Given the description of an element on the screen output the (x, y) to click on. 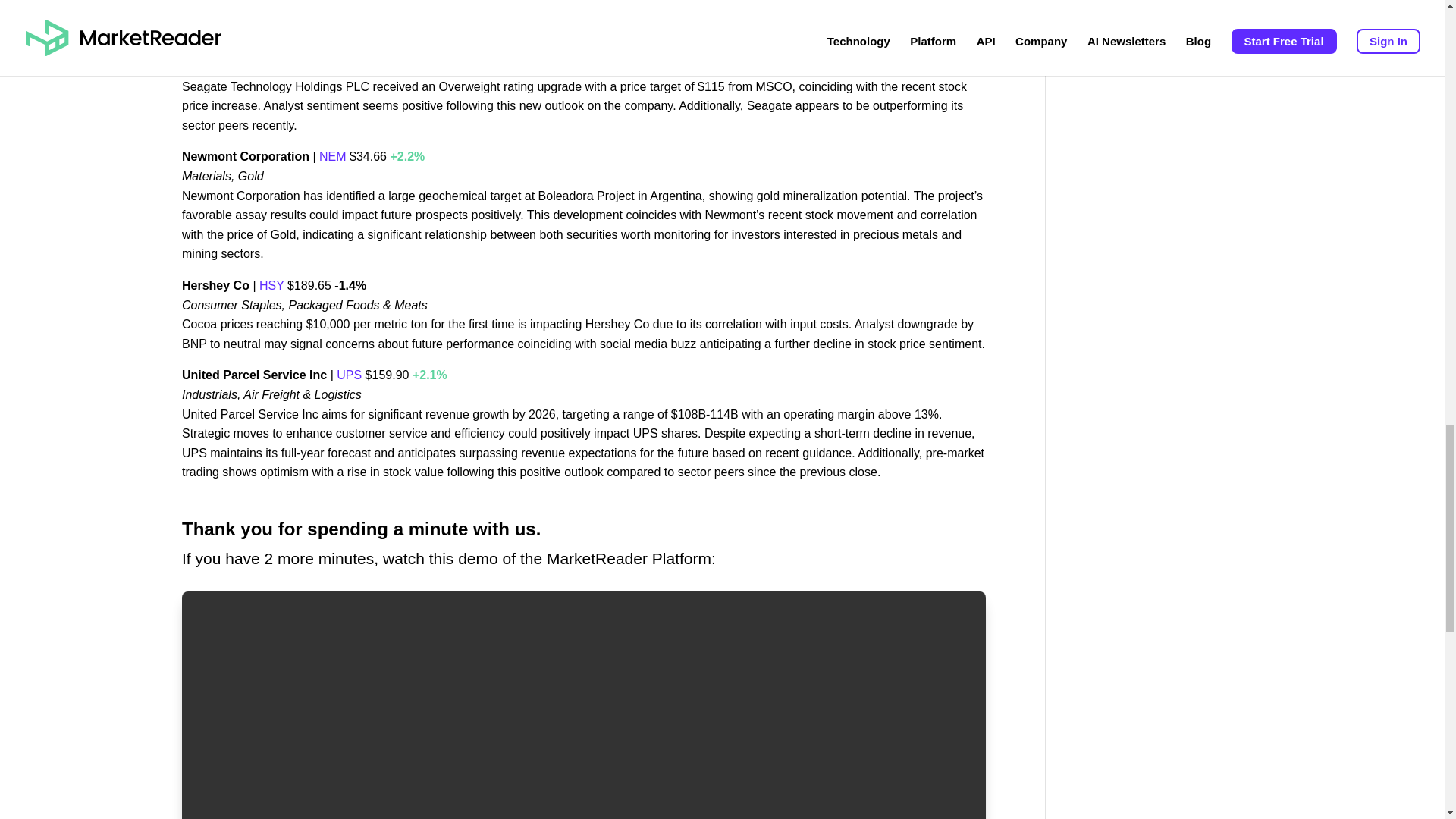
STX (402, 47)
UPS (349, 374)
NEM (332, 155)
HSY (269, 285)
